Given the description of an element on the screen output the (x, y) to click on. 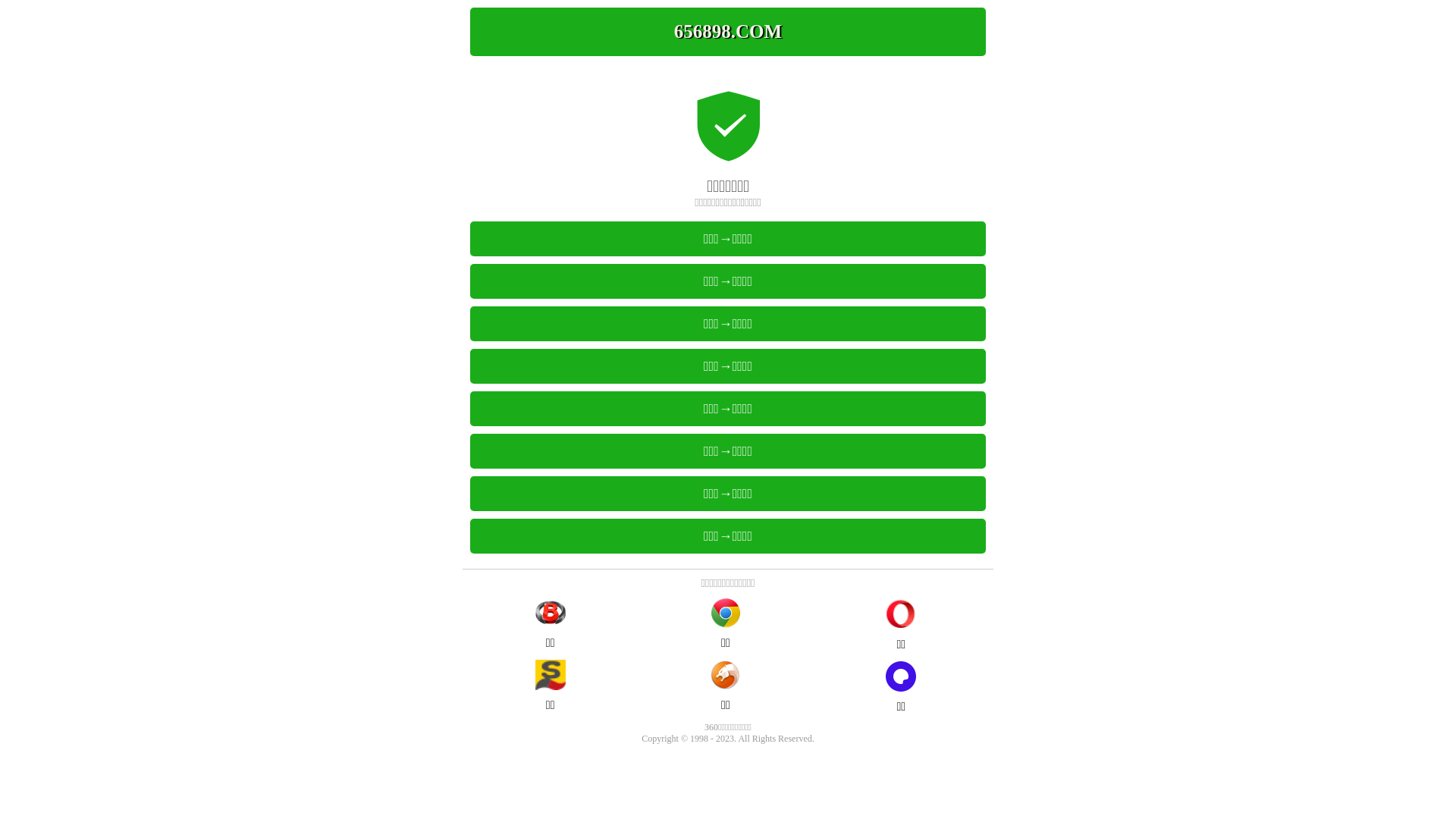
656898.COM Element type: text (727, 31)
